Given the description of an element on the screen output the (x, y) to click on. 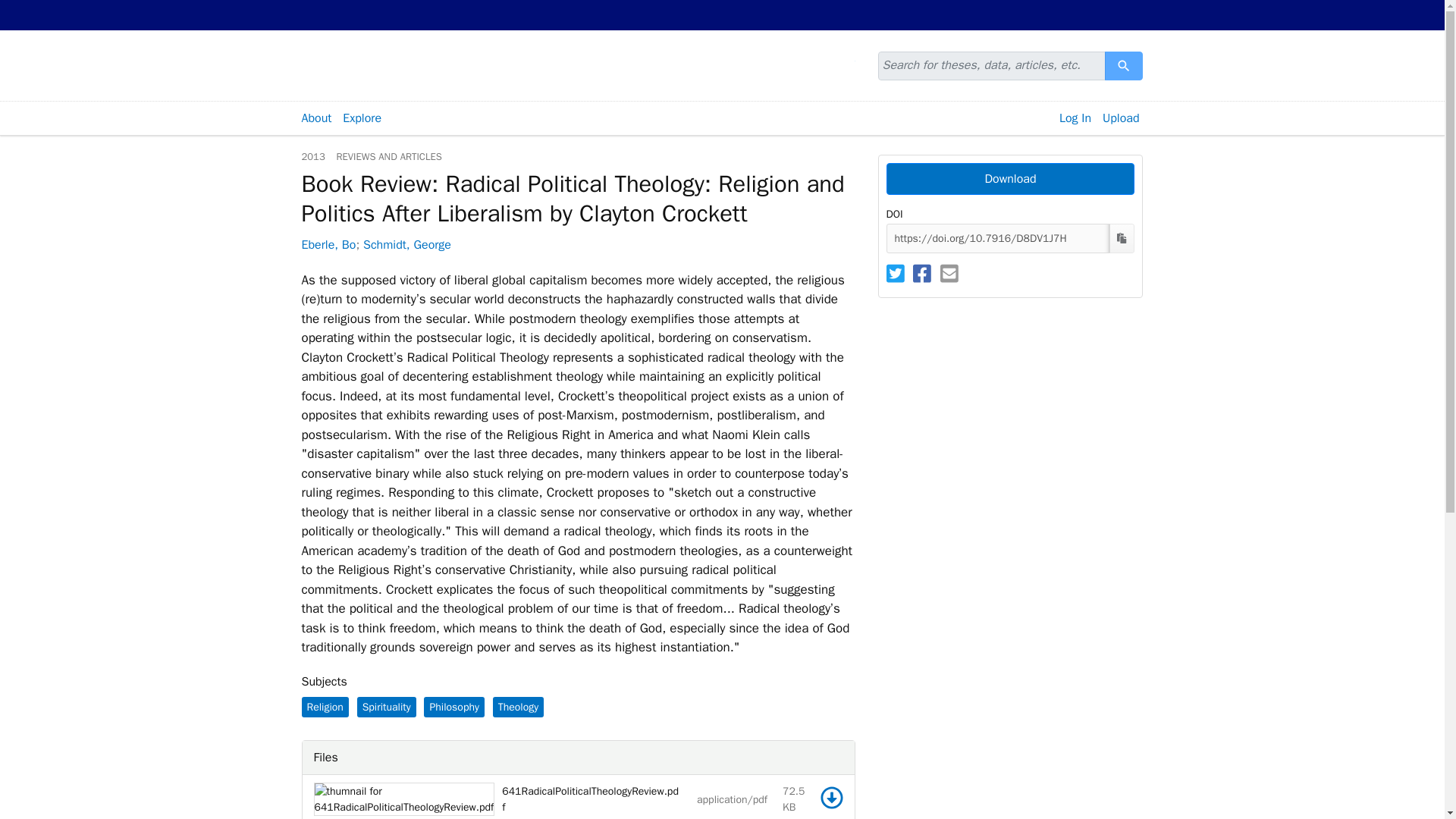
Philosophy (453, 706)
Download (1009, 178)
Log In (1074, 118)
Columbia University Libraries (422, 14)
Download file (832, 797)
About (315, 118)
Schmidt, George (406, 243)
Spirituality (386, 706)
Explore (362, 118)
Eberle, Bo (328, 243)
